Given the description of an element on the screen output the (x, y) to click on. 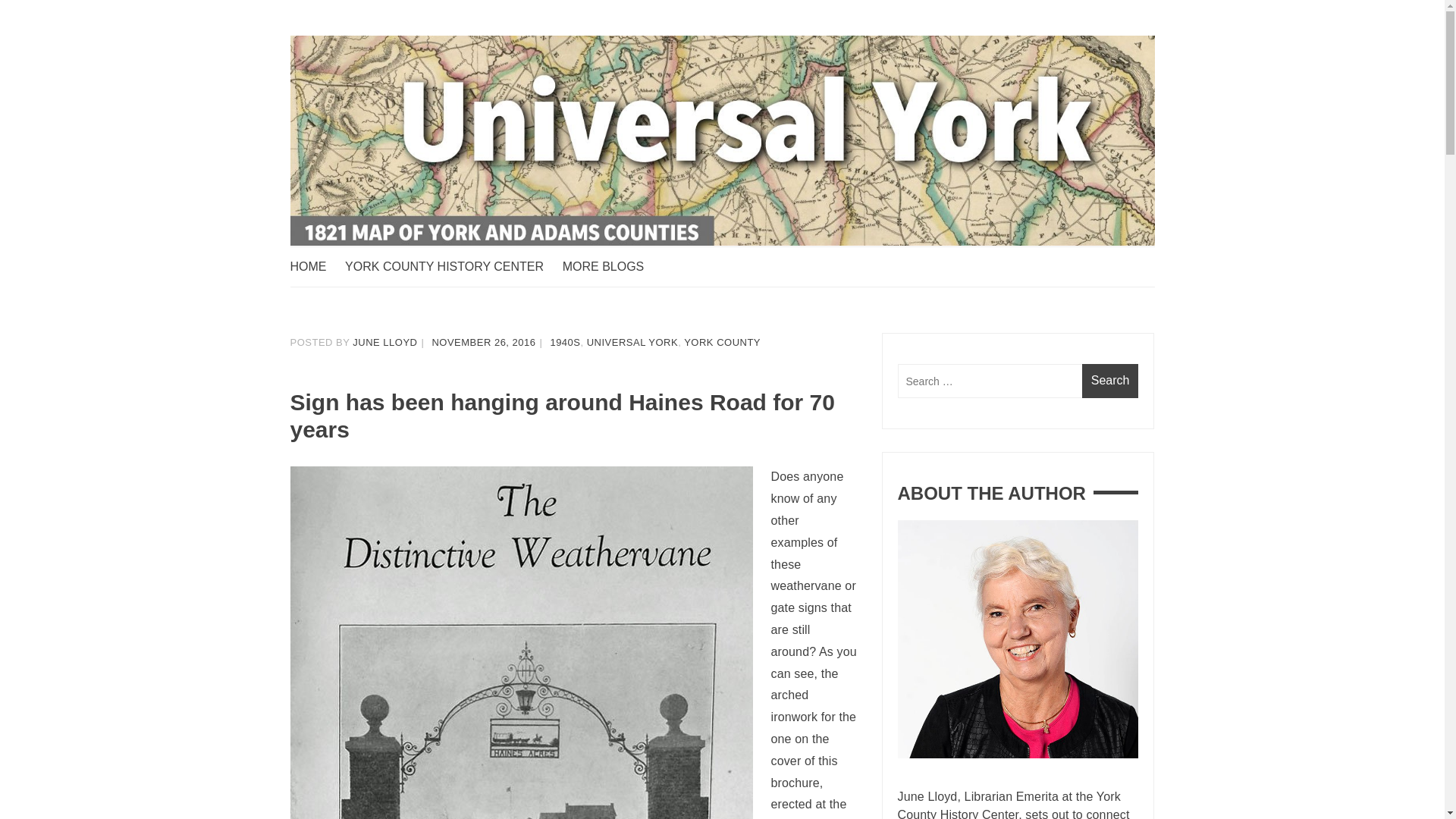
HOME (314, 266)
Search (1109, 380)
1940S (564, 342)
MORE BLOGS (610, 266)
Search (1109, 380)
YORK COUNTY (722, 342)
NOVEMBER 26, 2016 (482, 342)
JUNE LLOYD (384, 342)
UNIVERSAL YORK (632, 342)
Search (1109, 380)
